Given the description of an element on the screen output the (x, y) to click on. 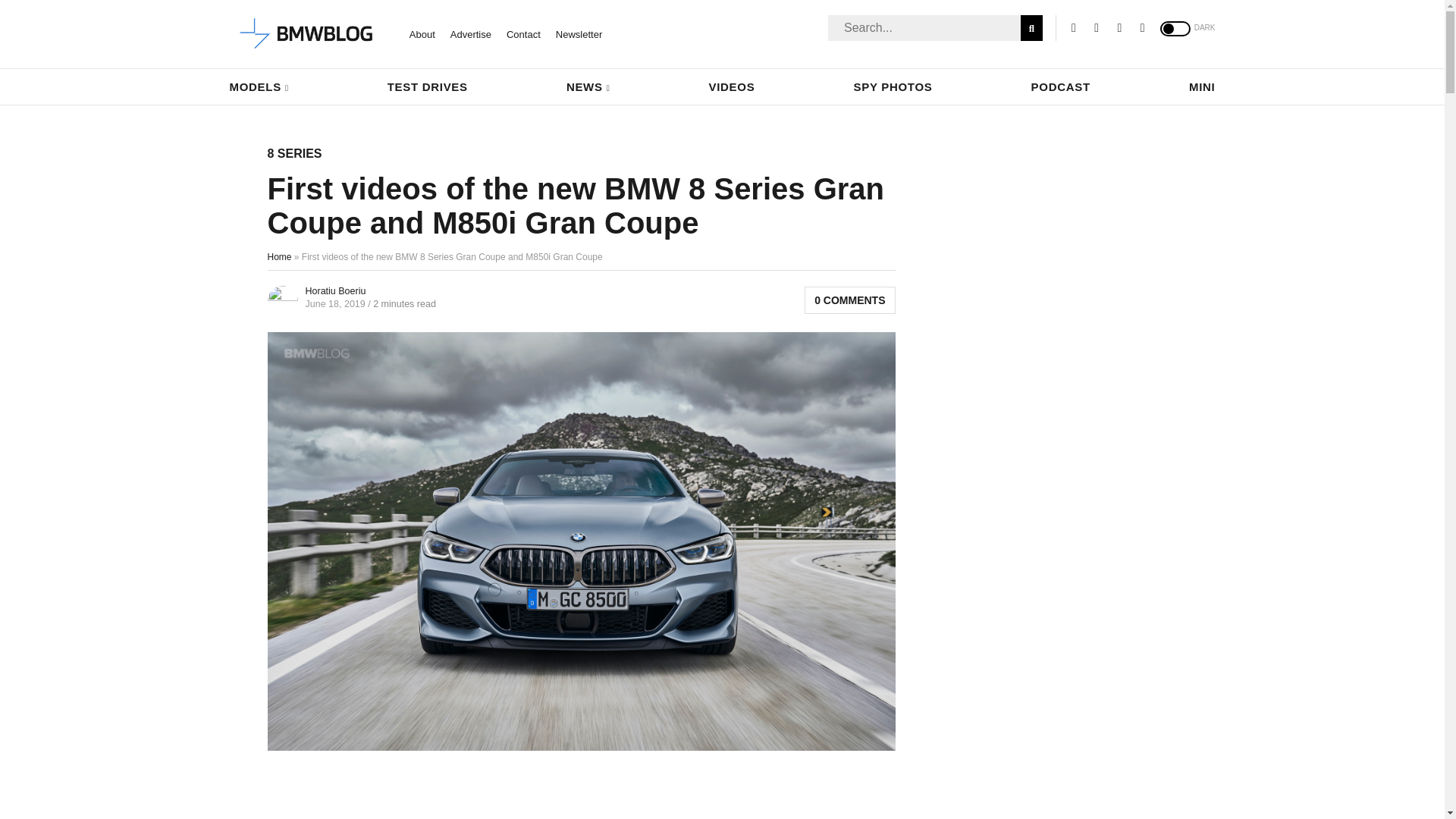
MODELS (258, 86)
Horatiu Boeriu (334, 290)
Newsletter (579, 34)
BMW BLOG (306, 34)
About (422, 34)
Advertise (470, 34)
Contact (523, 34)
